Given the description of an element on the screen output the (x, y) to click on. 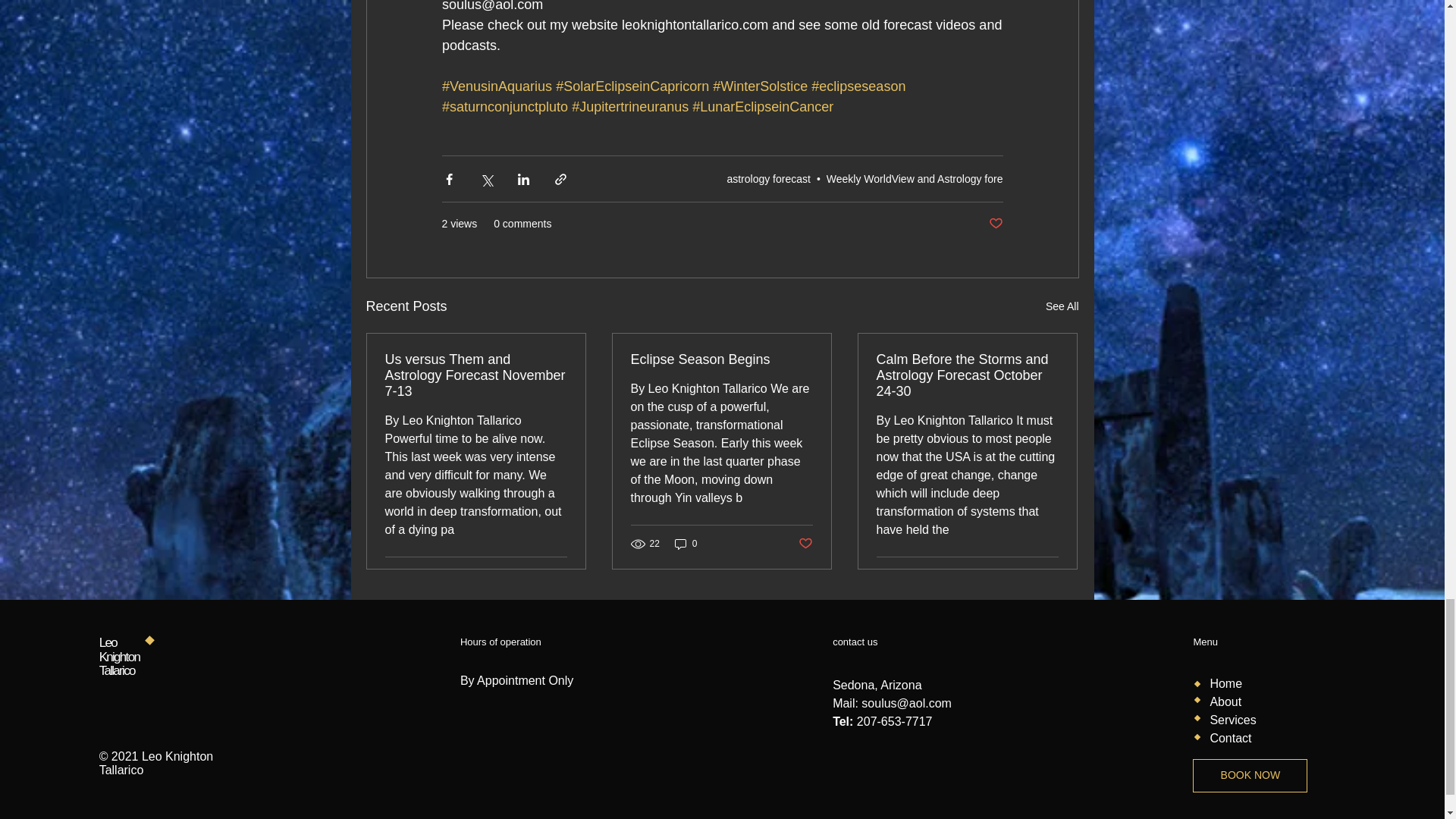
Post not marked as liked (804, 543)
0 (685, 544)
Leo  (109, 642)
See All (1061, 306)
Calm Before the Storms and Astrology Forecast October 24-30 (967, 375)
Eclipse Season Begins (721, 359)
astrology forecast (768, 178)
Us versus Them and Astrology Forecast November 7-13 (476, 375)
Post not marked as liked (995, 223)
Weekly WorldView and Astrology fore (915, 178)
